Given the description of an element on the screen output the (x, y) to click on. 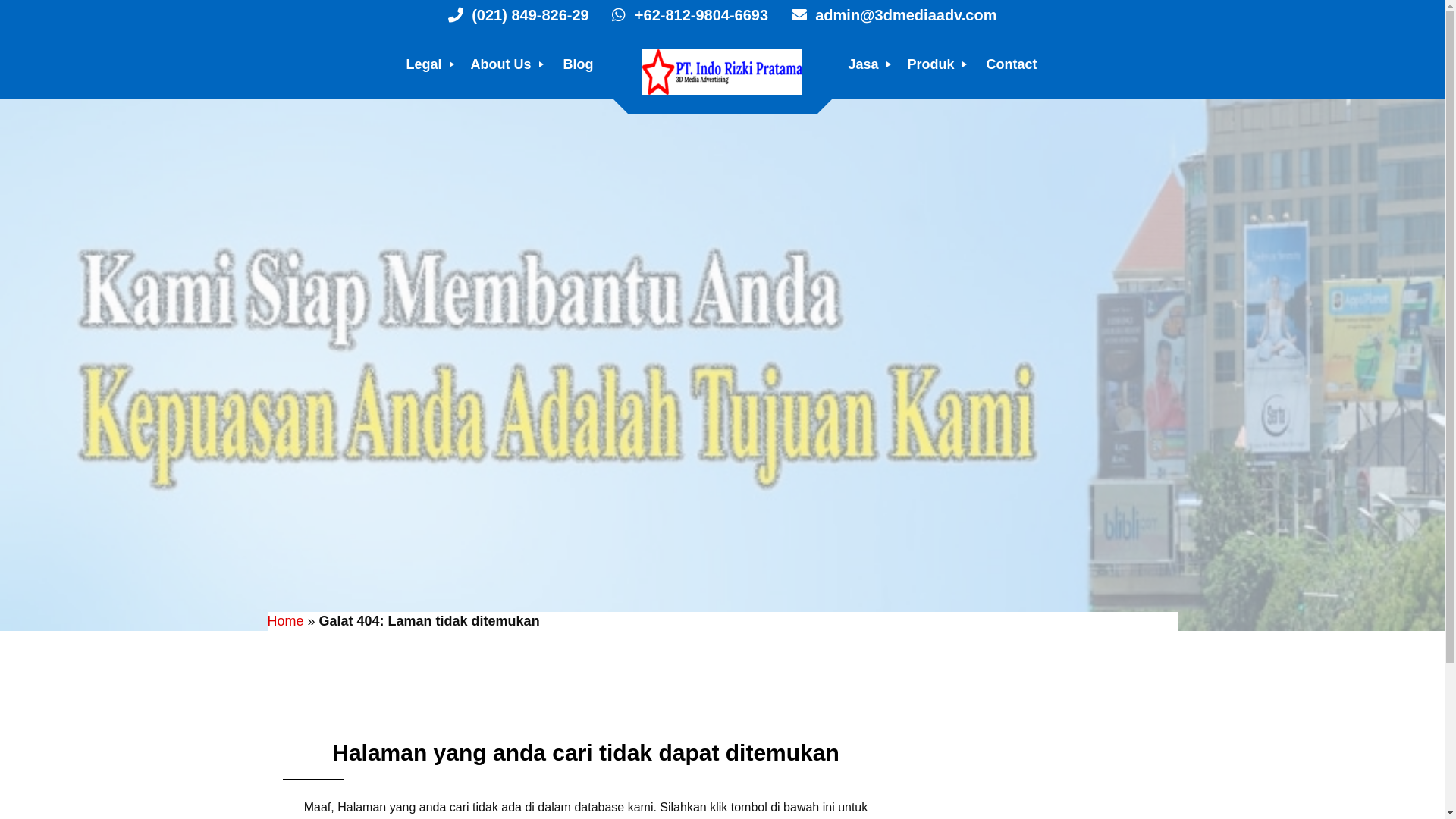
About Us Element type: text (502, 64)
Legal Element type: text (425, 64)
Contact Element type: text (1011, 64)
(021) 849-826-29 Element type: text (518, 14)
Jasa Element type: text (864, 64)
+62-812-9804-6693 Element type: text (680, 14)
admin@3dmediaadv.com Element type: text (884, 14)
Produk Element type: text (933, 64)
Blog Element type: text (577, 64)
Home Element type: text (284, 620)
